Given the description of an element on the screen output the (x, y) to click on. 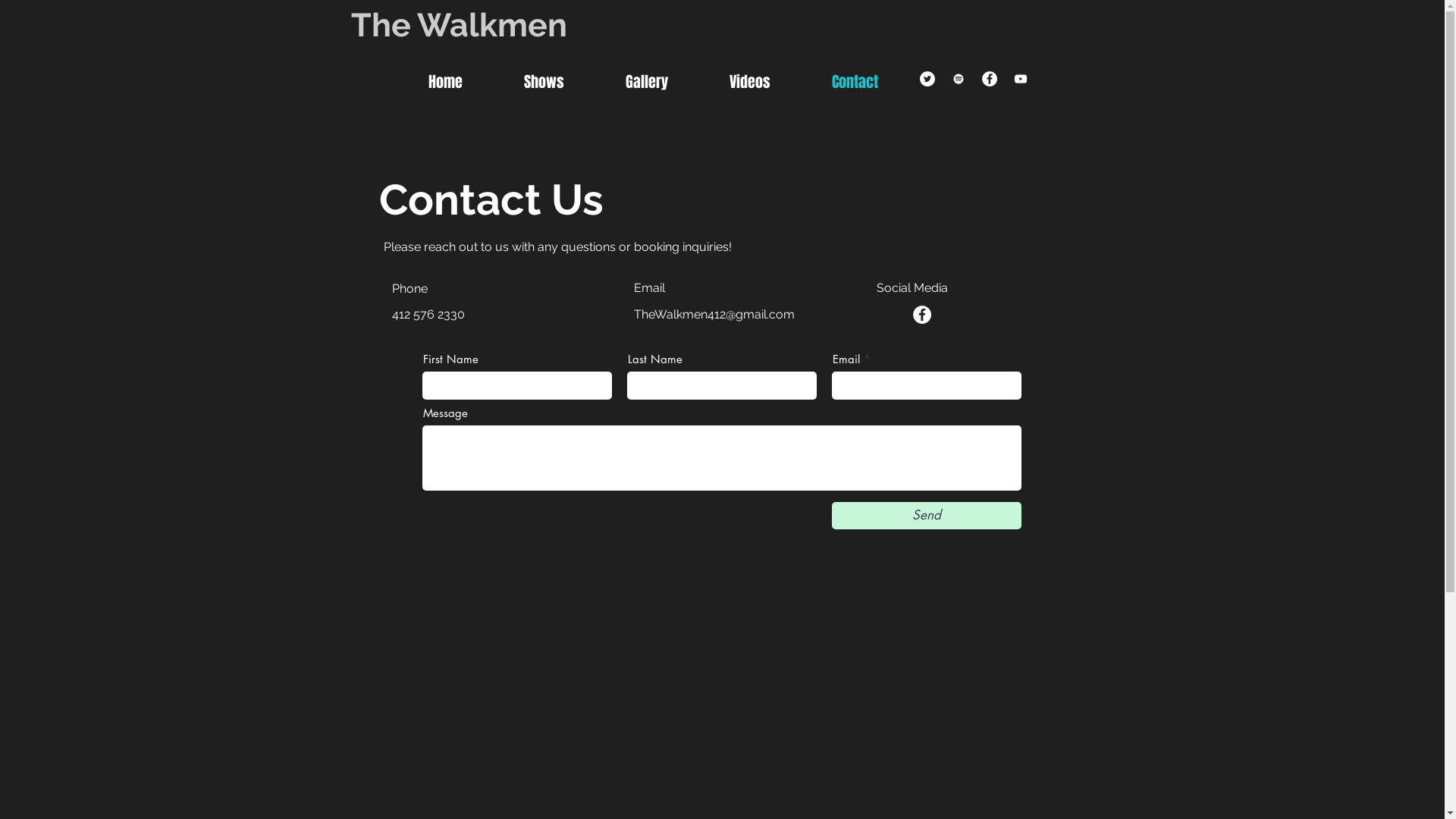
Shows Element type: text (563, 78)
Videos Element type: text (768, 78)
Send Element type: text (925, 515)
Gallery Element type: text (666, 78)
TheWalkmen412@gmail.com Element type: text (713, 314)
Home Element type: text (464, 78)
Contact Element type: text (874, 78)
